Given the description of an element on the screen output the (x, y) to click on. 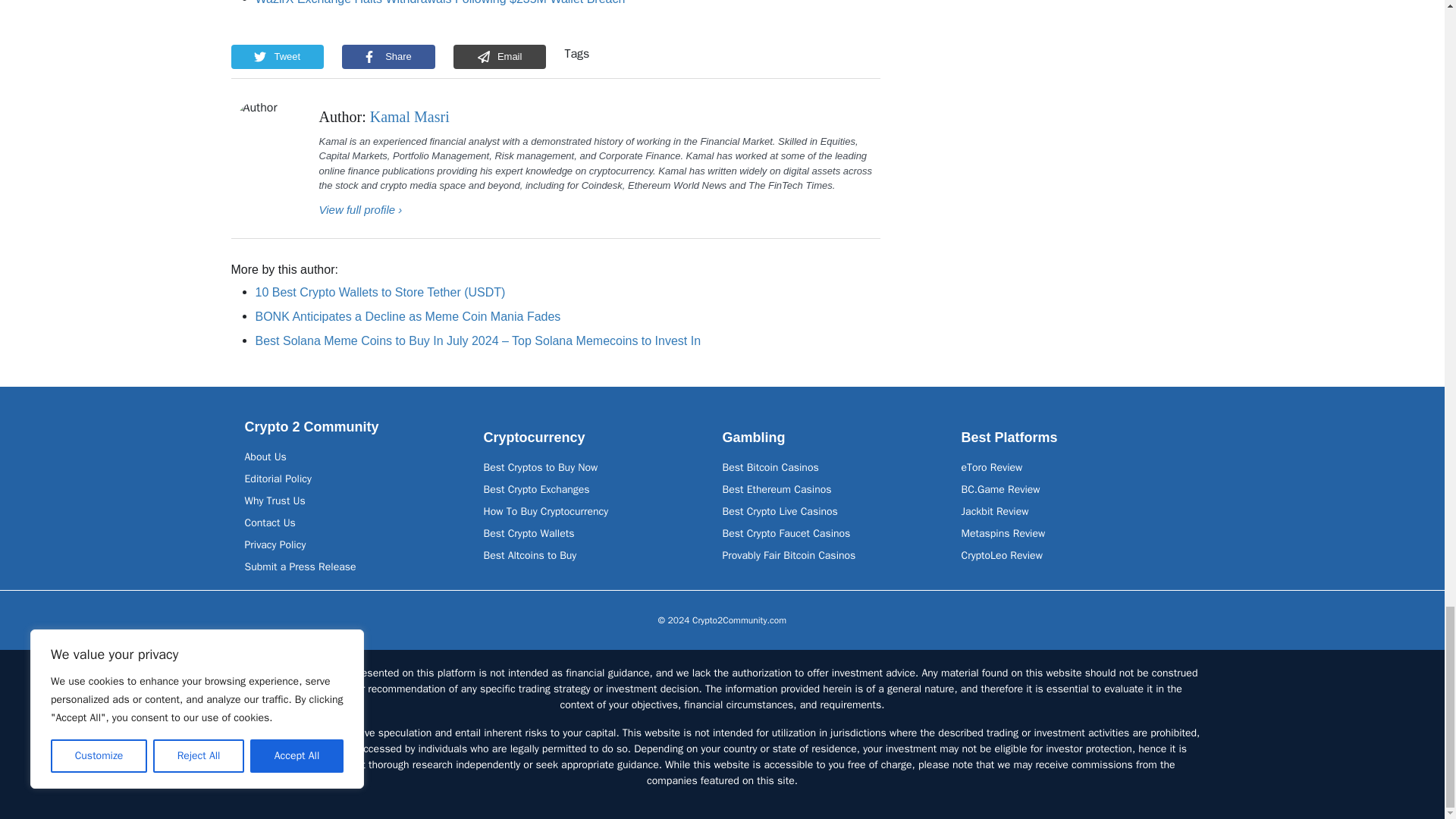
Share via Facebook (388, 56)
Share via Twitter (276, 56)
Share via Email (499, 56)
